Given the description of an element on the screen output the (x, y) to click on. 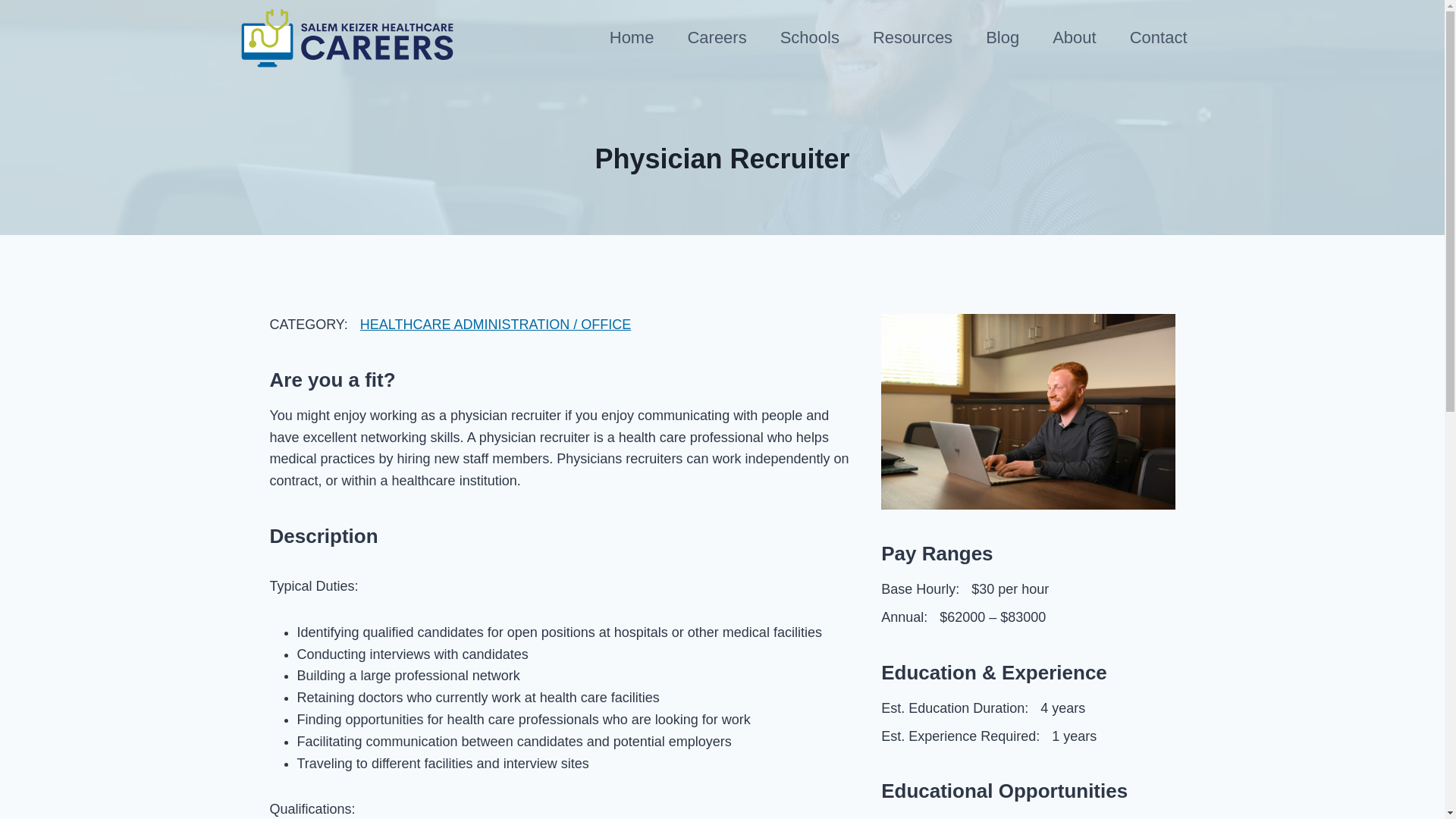
About (1074, 37)
Resources (912, 37)
Blog (1002, 37)
Home (631, 37)
Contact (1158, 37)
Schools (809, 37)
Careers (715, 37)
Corban University (945, 817)
